Given the description of an element on the screen output the (x, y) to click on. 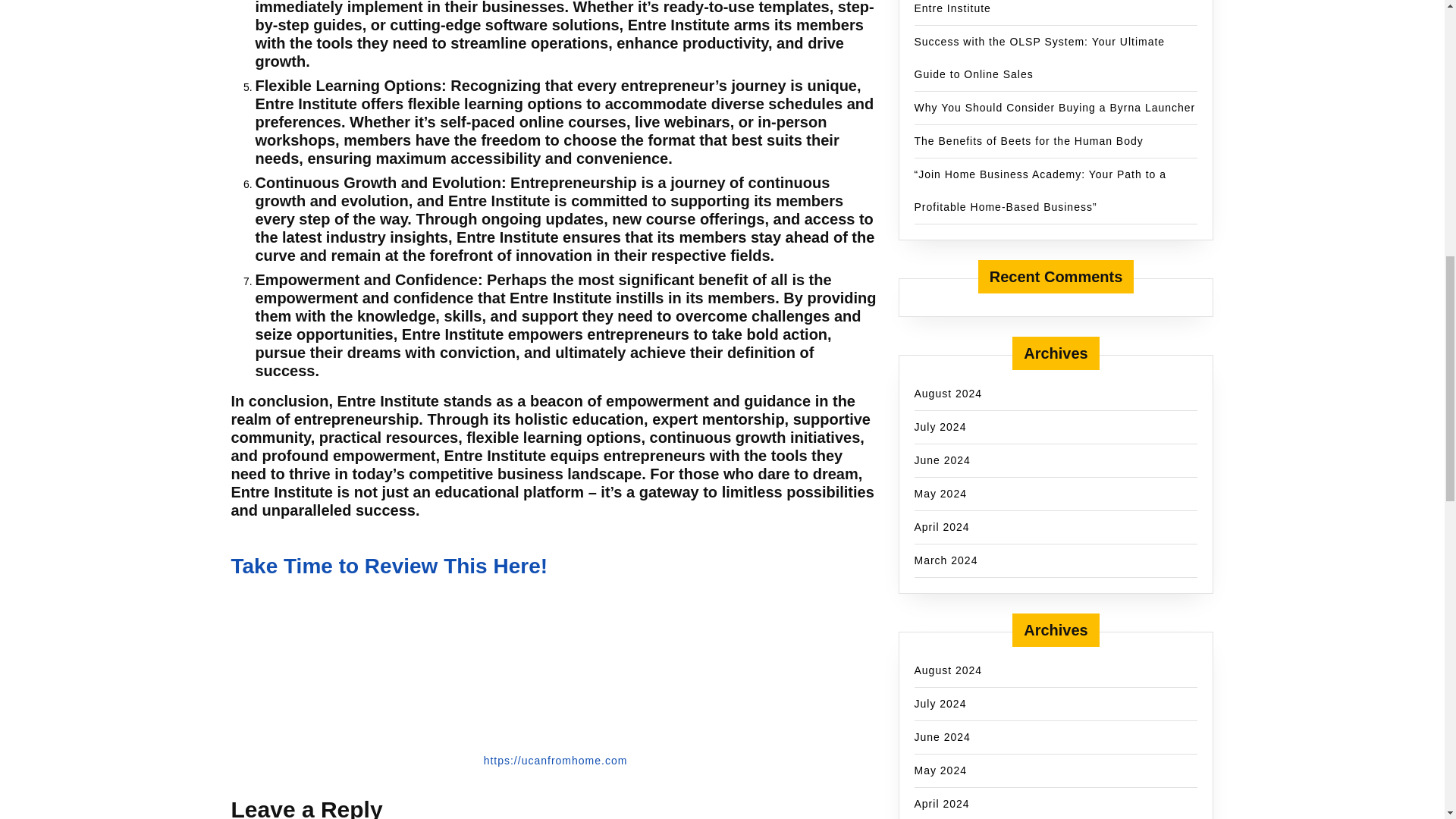
Take Time to Review This Here! (388, 566)
The Benefits of Beets for the Human Body (1028, 141)
March 2024 (946, 559)
Why You Should Consider Buying a Byrna Launcher (1054, 107)
August 2024 (948, 670)
June 2024 (942, 459)
May 2024 (940, 492)
July 2024 (940, 426)
April 2024 (941, 526)
